Given the description of an element on the screen output the (x, y) to click on. 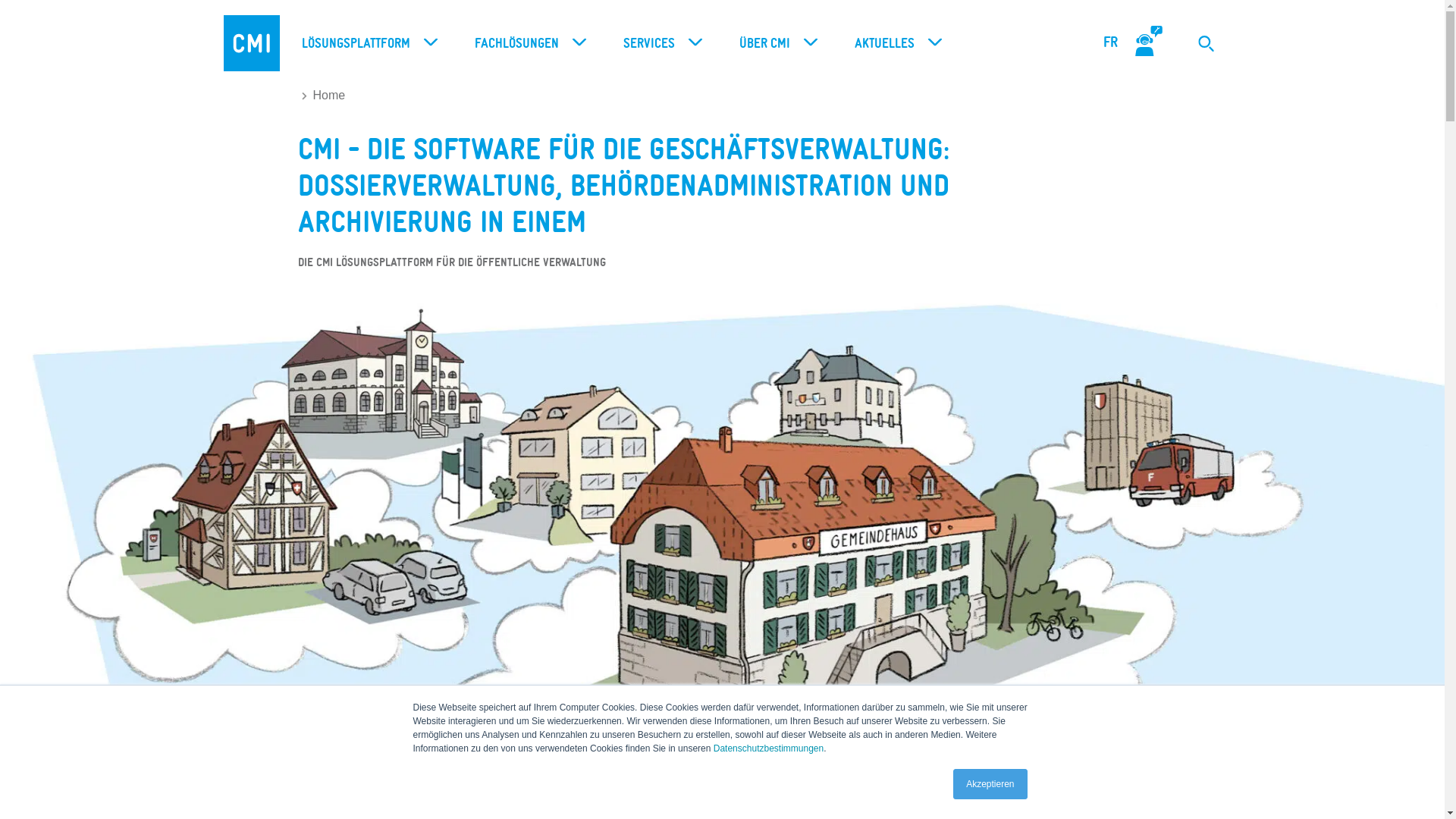
AKTUELLES Element type: text (893, 43)
FR Element type: text (1110, 42)
Akzeptieren Element type: text (989, 783)
Datenschutzbestimmungen Element type: text (768, 748)
